Given the description of an element on the screen output the (x, y) to click on. 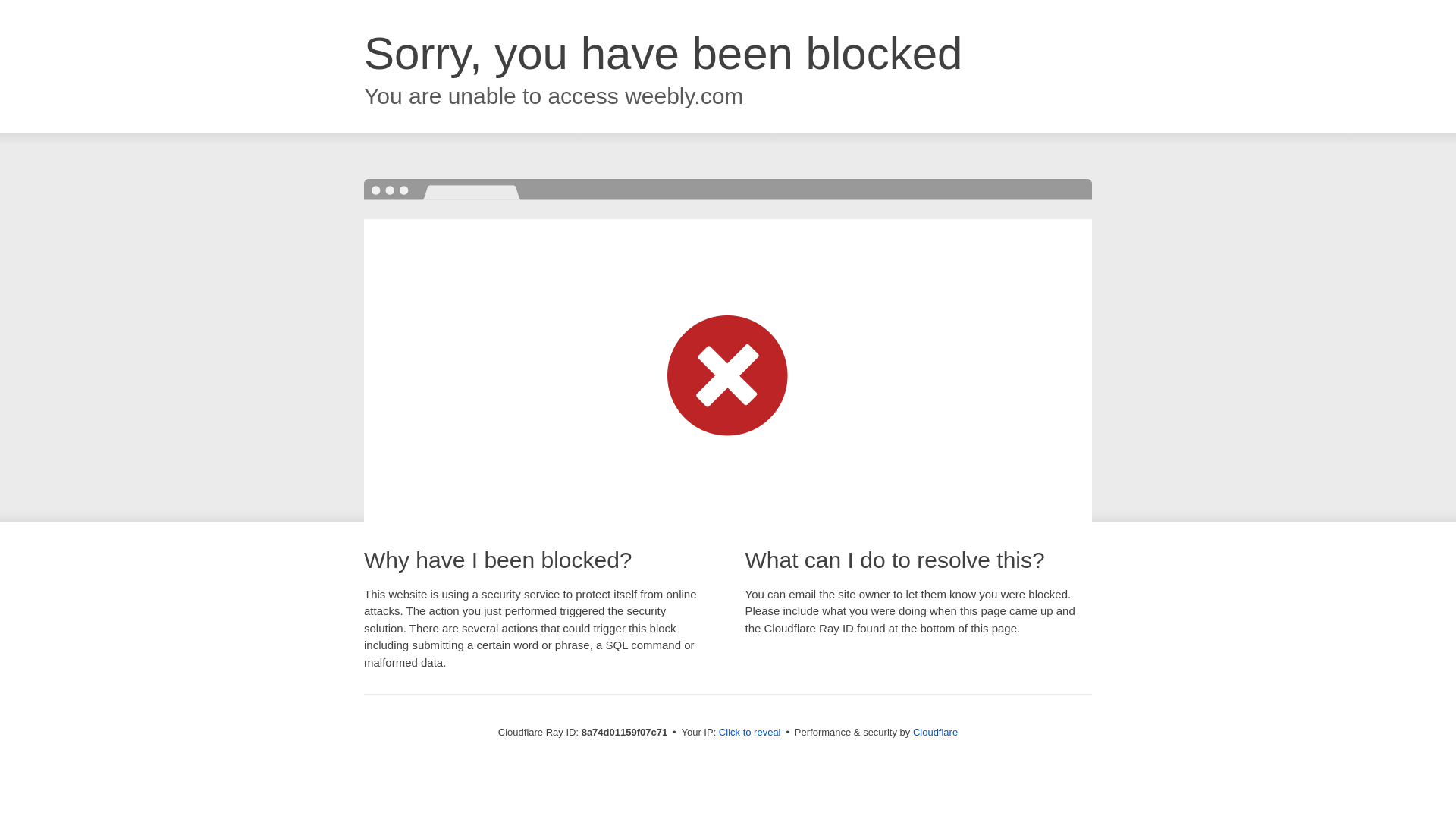
Cloudflare (935, 731)
Click to reveal (749, 732)
